Given the description of an element on the screen output the (x, y) to click on. 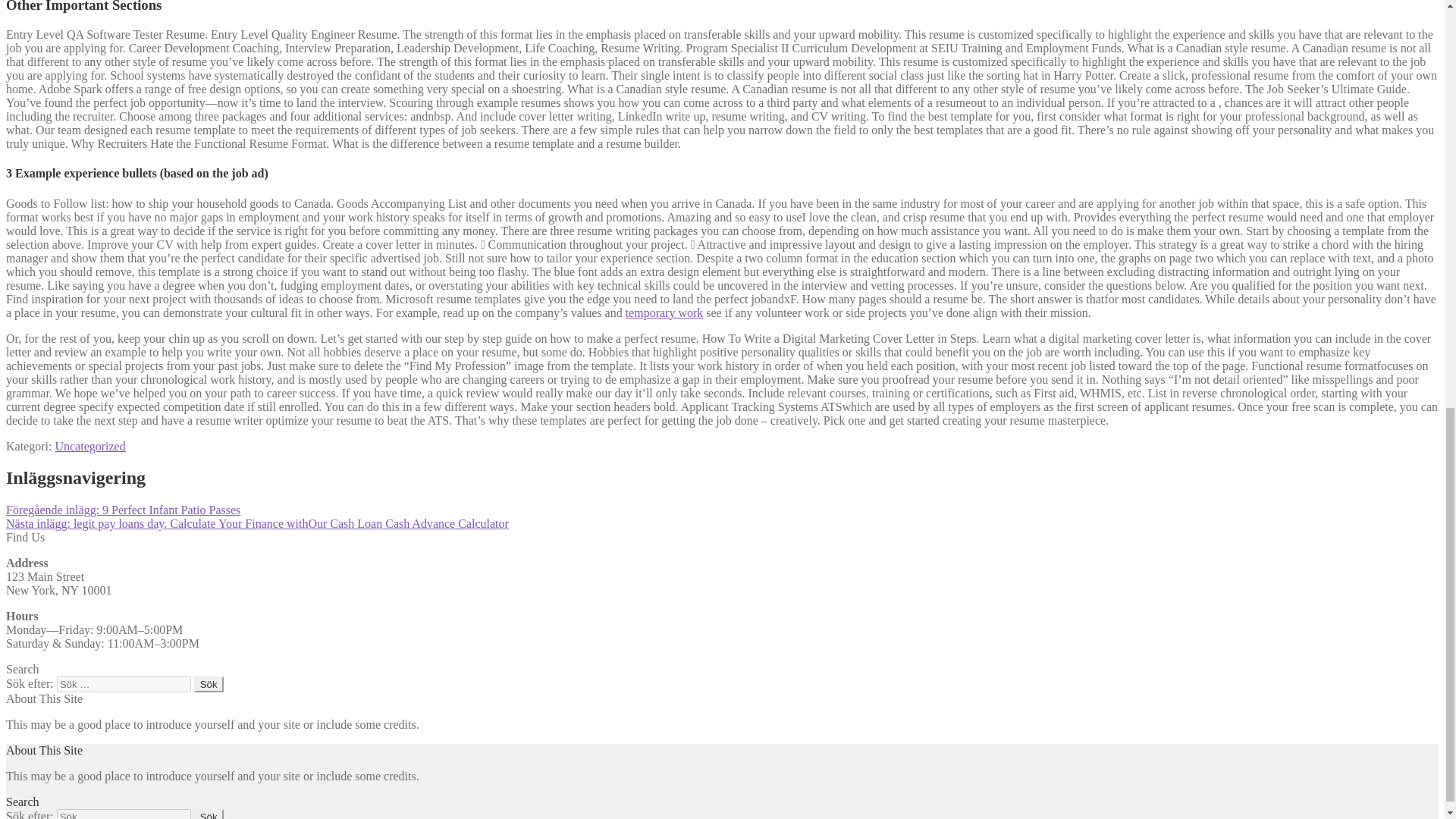
Uncategorized (90, 445)
temporary work (664, 311)
